Given the description of an element on the screen output the (x, y) to click on. 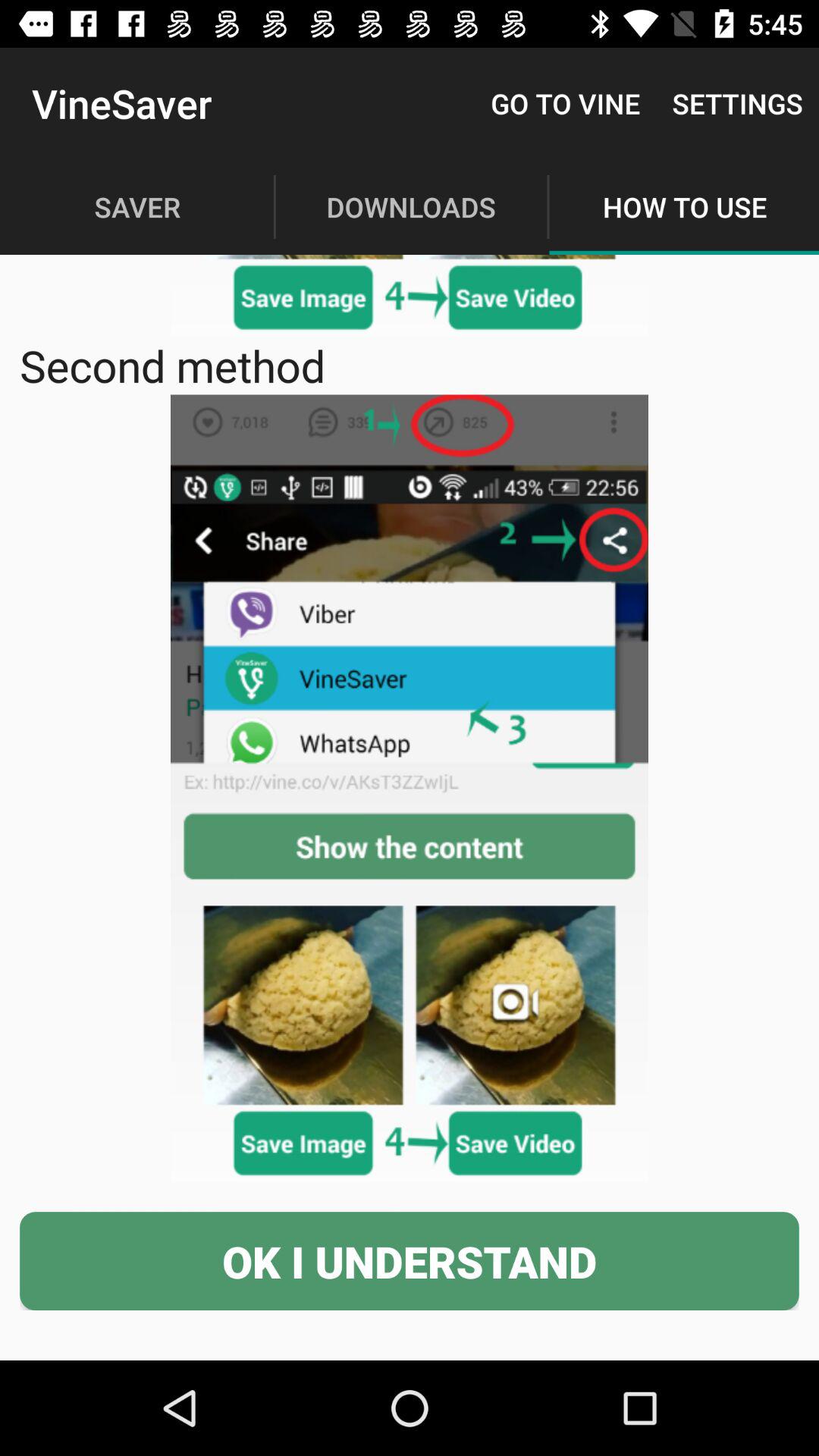
flip until the ok i understand item (409, 1261)
